Given the description of an element on the screen output the (x, y) to click on. 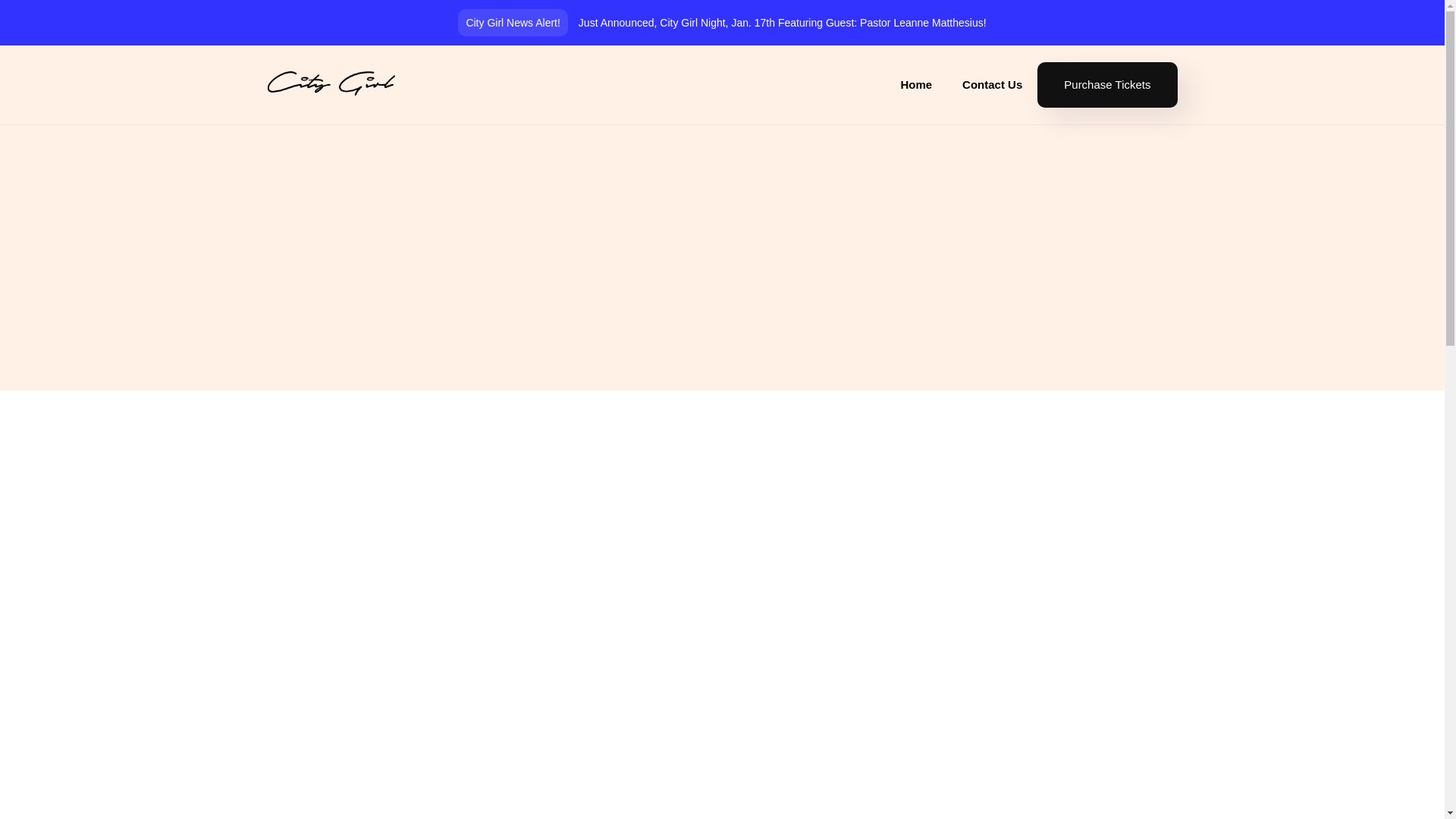
Home Element type: text (915, 84)
Contact Us Element type: text (992, 84)
Purchase Tickets Element type: text (1106, 84)
